Given the description of an element on the screen output the (x, y) to click on. 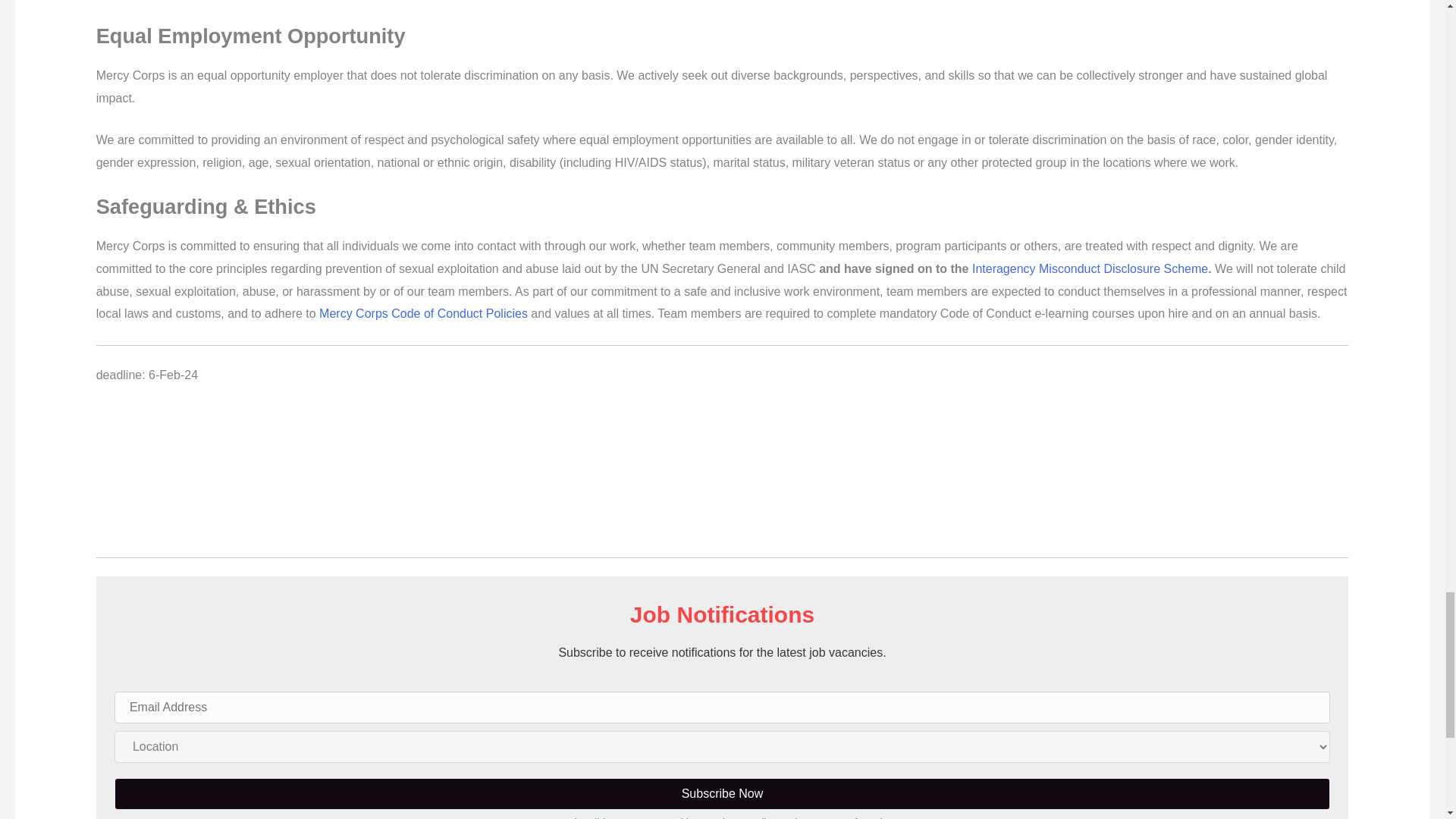
Mercy Corps Code of Conduct Policies (422, 313)
Subscribe Now (722, 793)
Subscribe Now (722, 793)
privacy policy (744, 817)
Interagency Misconduct Disclosure Scheme (1090, 268)
